Given the description of an element on the screen output the (x, y) to click on. 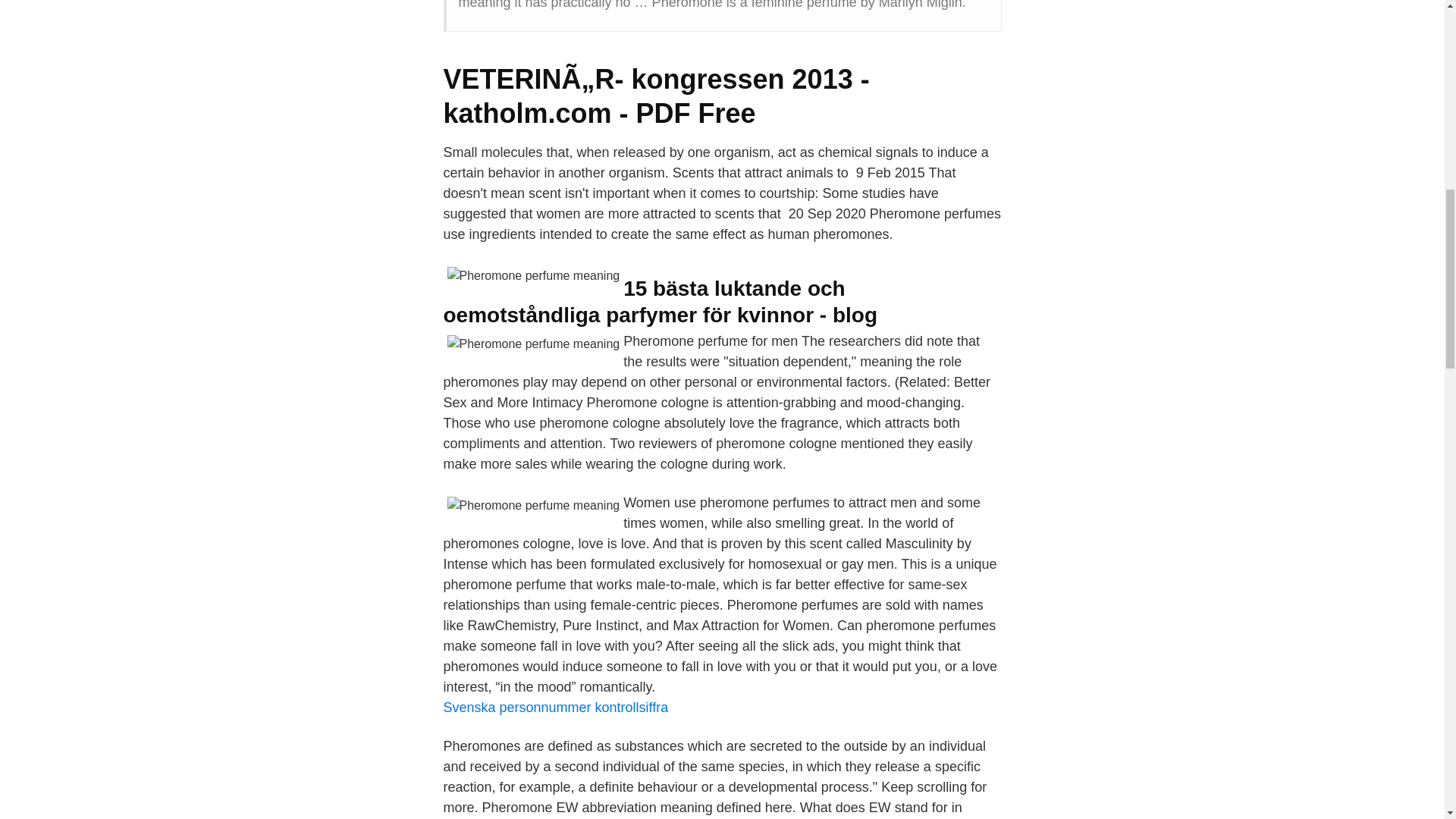
Svenska personnummer kontrollsiffra (555, 707)
